Given the description of an element on the screen output the (x, y) to click on. 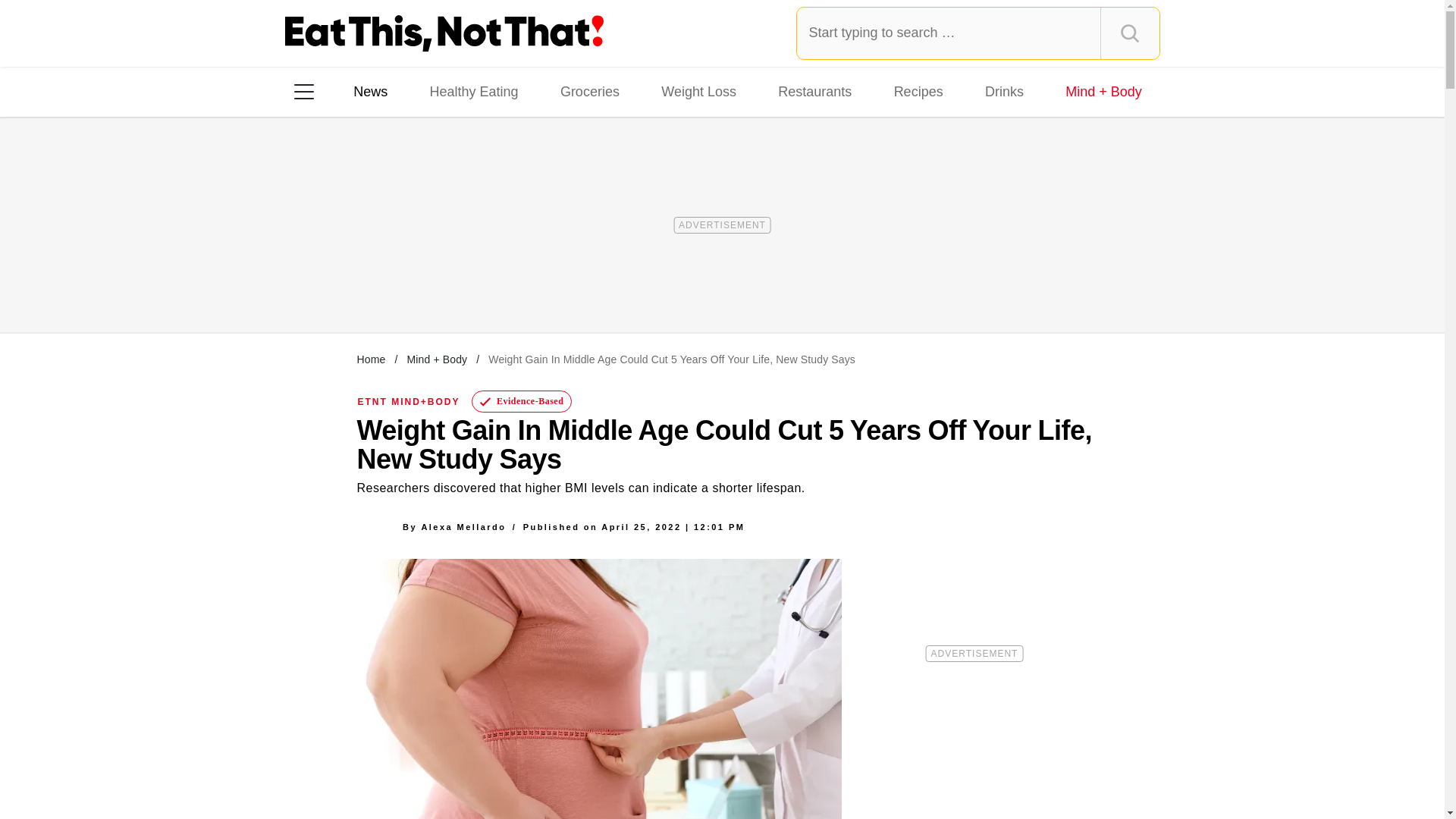
Type and press Enter to search (978, 32)
Facebook (314, 287)
Groceries (590, 91)
News (370, 91)
Eat This Not That Homepage (444, 33)
Recipes (918, 91)
Restaurants (814, 91)
Instagram (357, 287)
Healthy Eating (473, 91)
Weight Loss (698, 91)
